Given the description of an element on the screen output the (x, y) to click on. 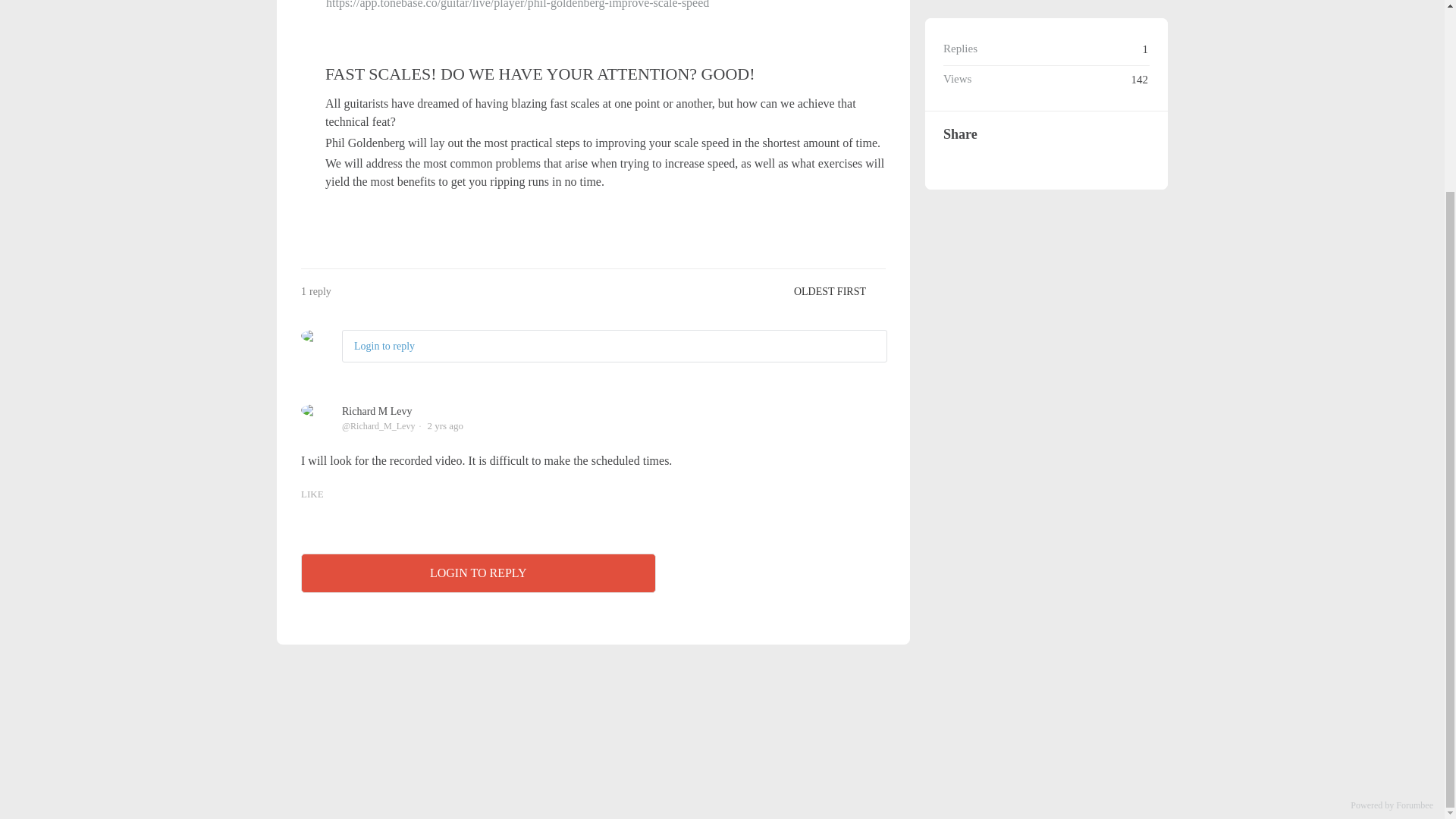
Richard M Levy (377, 410)
LOGIN TO REPLY (478, 572)
Powered by Forumbee (1391, 805)
Login to reply (383, 346)
